Given the description of an element on the screen output the (x, y) to click on. 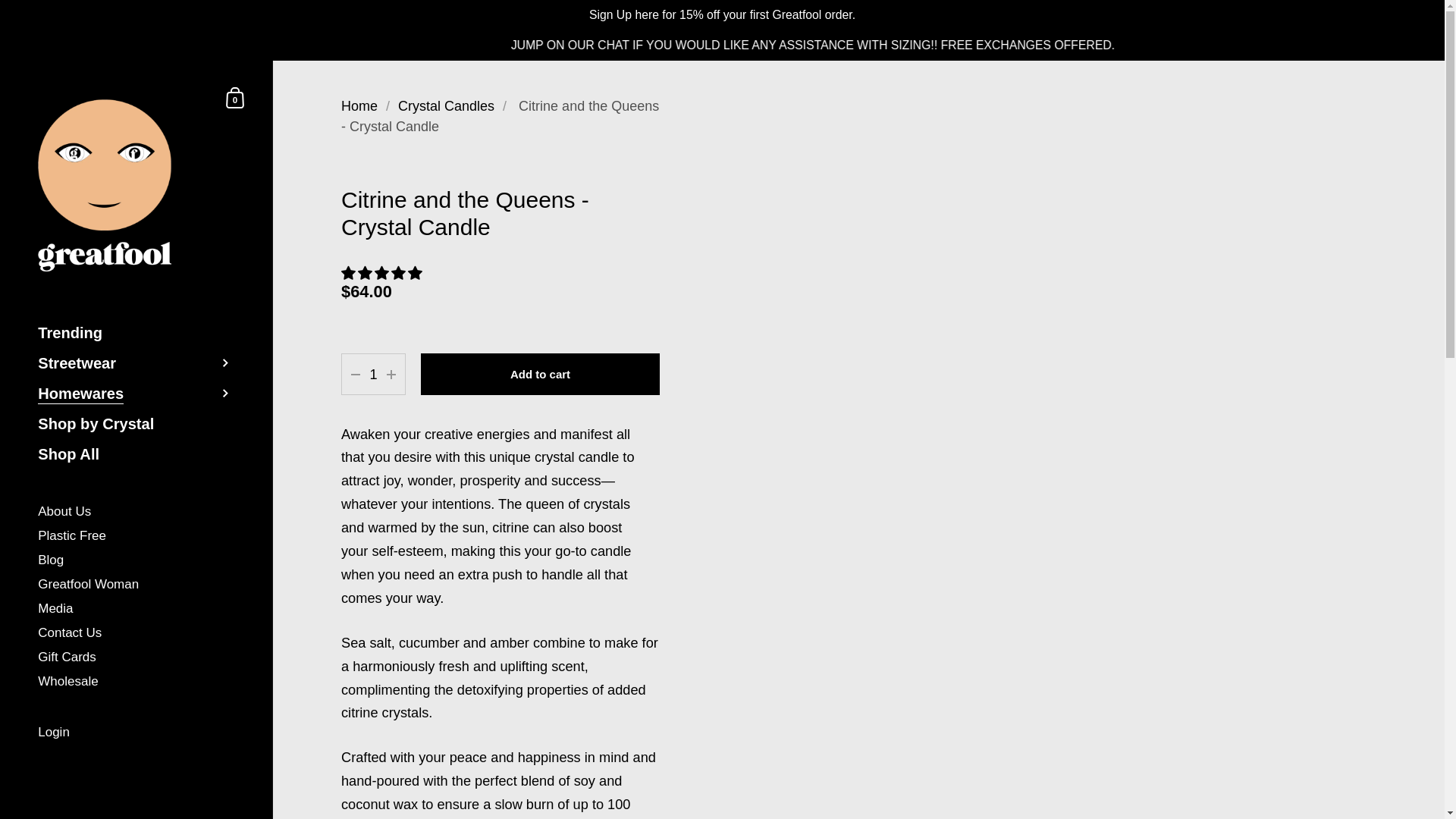
Gift Cards (136, 658)
Blog (136, 560)
Streetwear (136, 363)
Homewares (136, 393)
Shop All (136, 453)
1 (373, 374)
About Us (136, 512)
Contact Us (136, 633)
Trending (136, 332)
Login (235, 96)
Media (136, 733)
Skip to content (136, 609)
Shop by Crystal (136, 585)
